Given the description of an element on the screen output the (x, y) to click on. 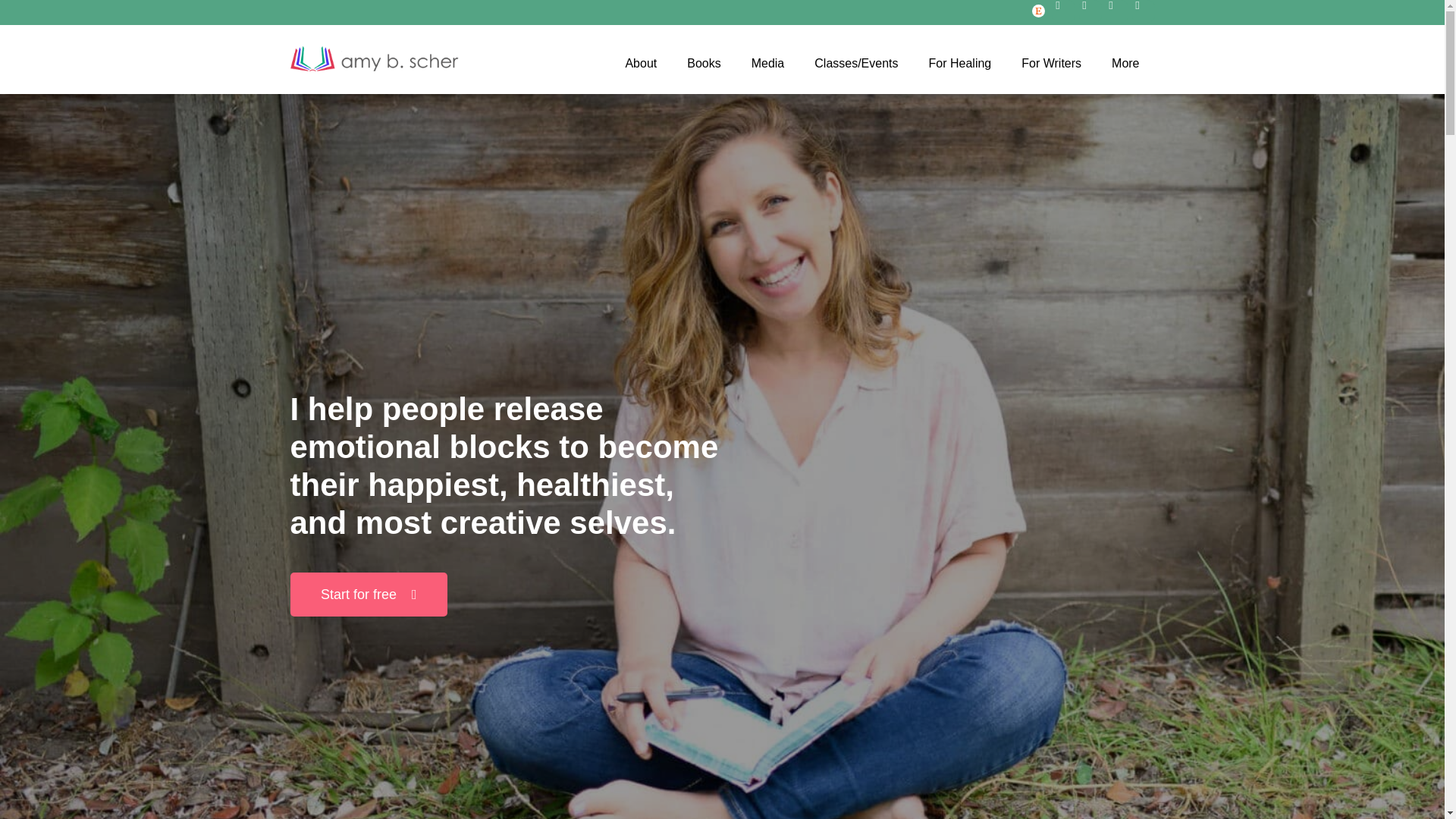
About (640, 63)
Media (767, 63)
More (1125, 63)
For Healing (960, 63)
Start for free (367, 594)
Books (703, 63)
For Writers (1051, 63)
